Given the description of an element on the screen output the (x, y) to click on. 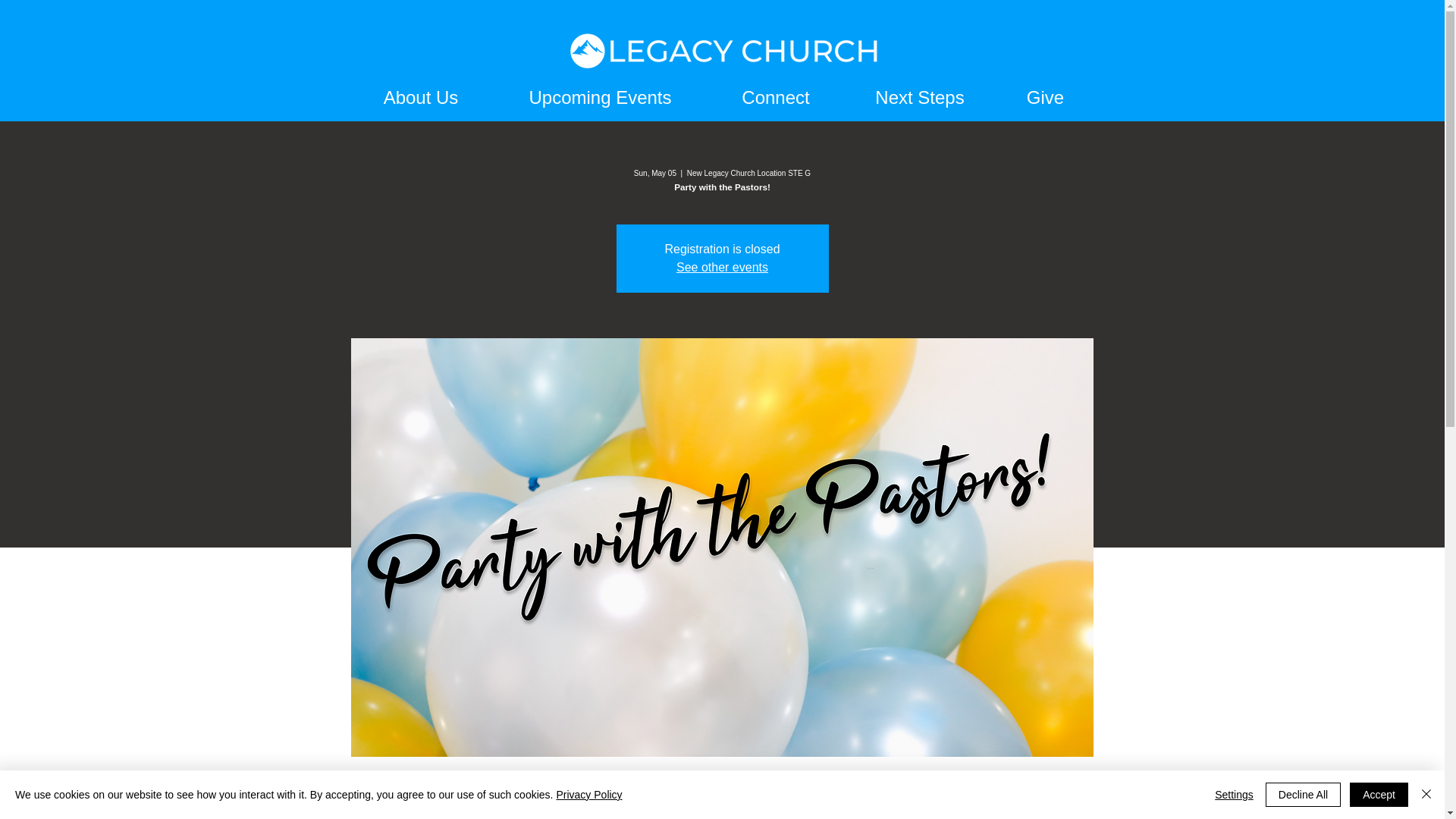
See other events (722, 267)
About Us (420, 97)
Accept (1378, 794)
Decline All (1302, 794)
Upcoming Events (601, 97)
Next Steps (919, 97)
Give (1045, 97)
Privacy Policy (588, 794)
